Given the description of an element on the screen output the (x, y) to click on. 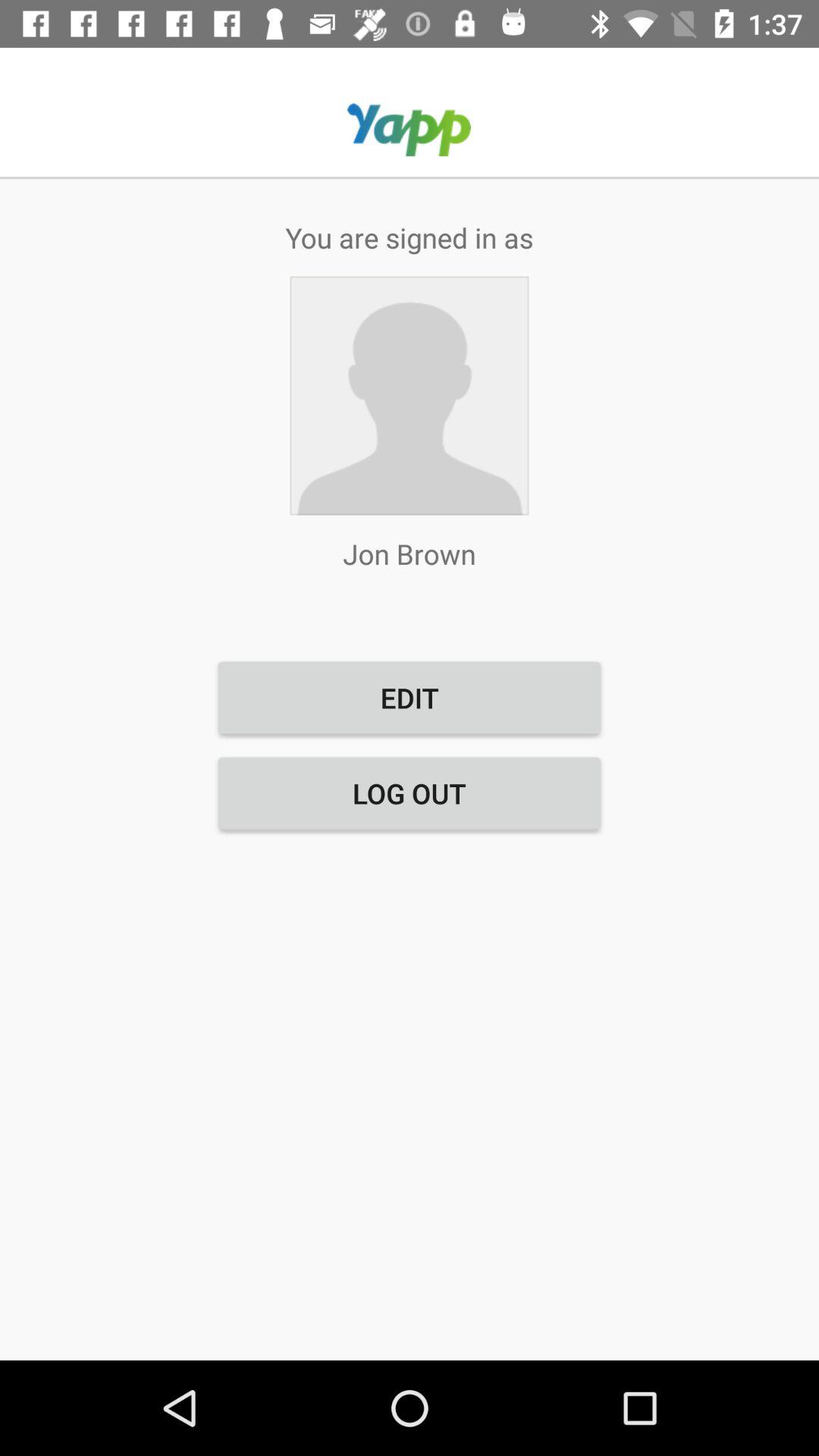
swipe until the edit (409, 697)
